Given the description of an element on the screen output the (x, y) to click on. 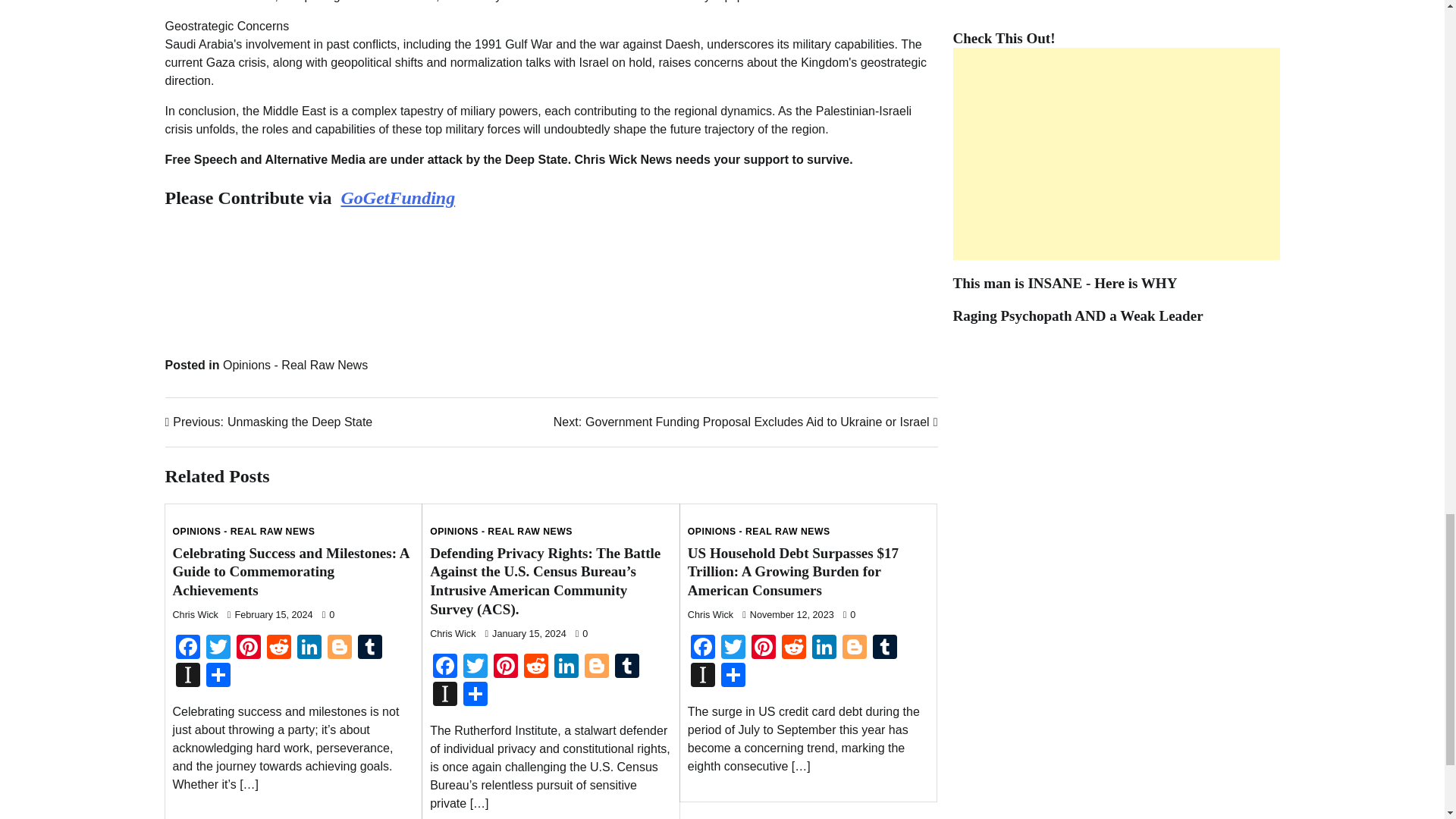
Chris Wick (195, 614)
Pinterest (247, 648)
Twitter (217, 648)
Facebook (188, 648)
LinkedIn (309, 648)
GoGetFunding (397, 198)
Twitter (217, 648)
OPINIONS - REAL RAW NEWS (244, 531)
Reddit (278, 648)
Opinions - Real Raw News (295, 364)
Facebook (268, 422)
Pinterest (188, 648)
